Given the description of an element on the screen output the (x, y) to click on. 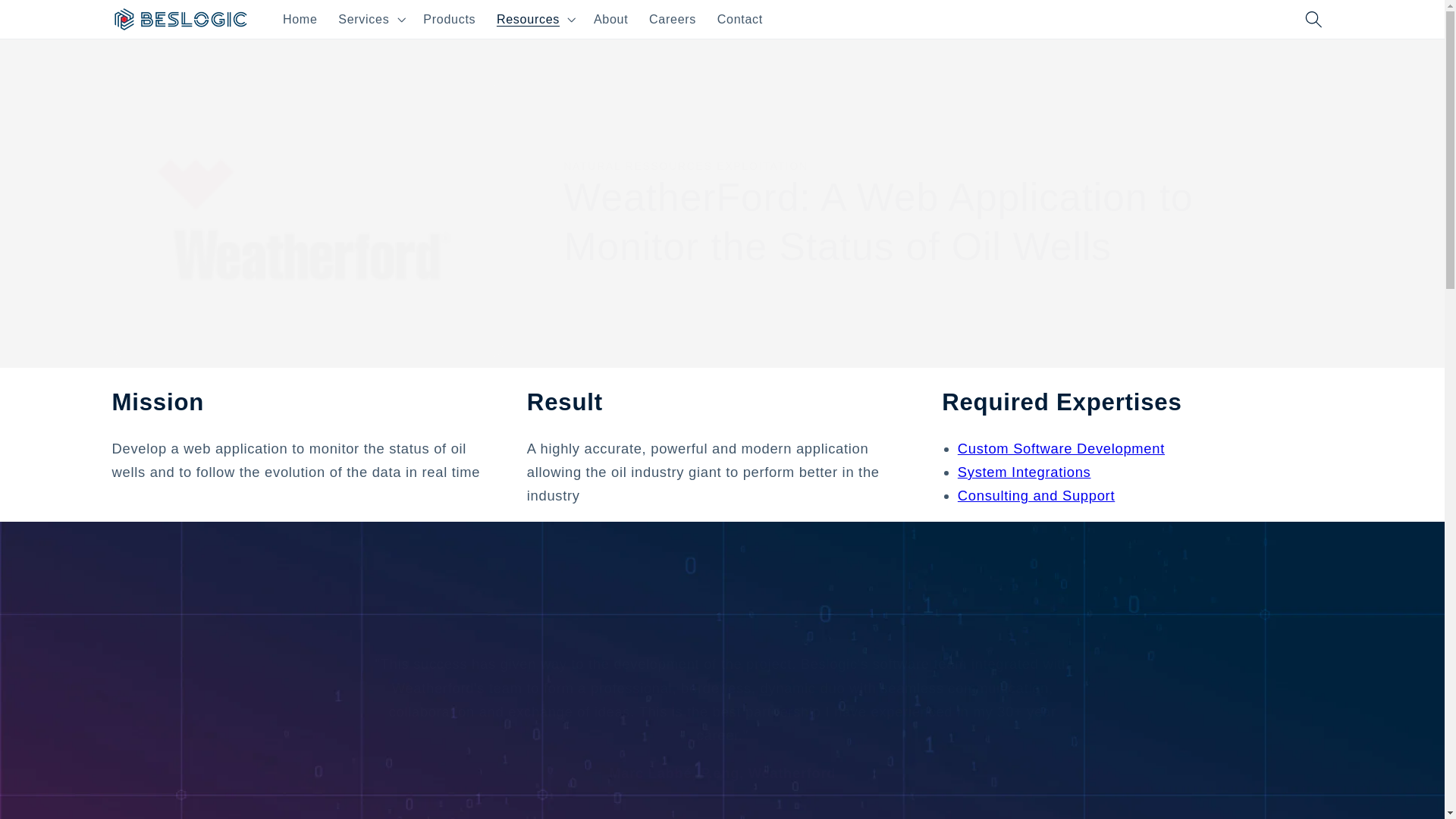
Products (449, 18)
Contact (739, 18)
About (611, 18)
Careers (672, 18)
Home (299, 18)
Skip to content (51, 19)
Custom Software Development (1061, 448)
